Given the description of an element on the screen output the (x, y) to click on. 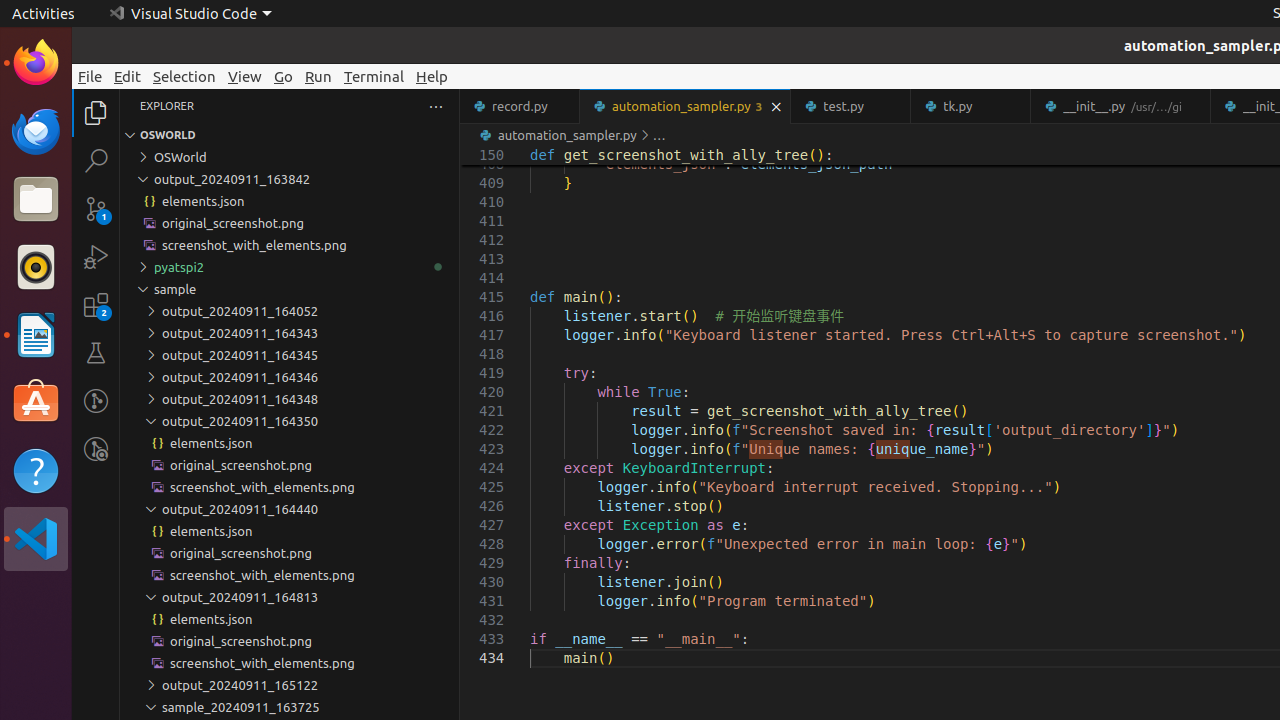
Extensions (Ctrl+Shift+X) - 2 require update Element type: page-tab (96, 305)
sample Element type: tree-item (289, 289)
GitLens Inspect Element type: page-tab (96, 449)
output_20240911_164350 Element type: tree-item (289, 421)
